Given the description of an element on the screen output the (x, y) to click on. 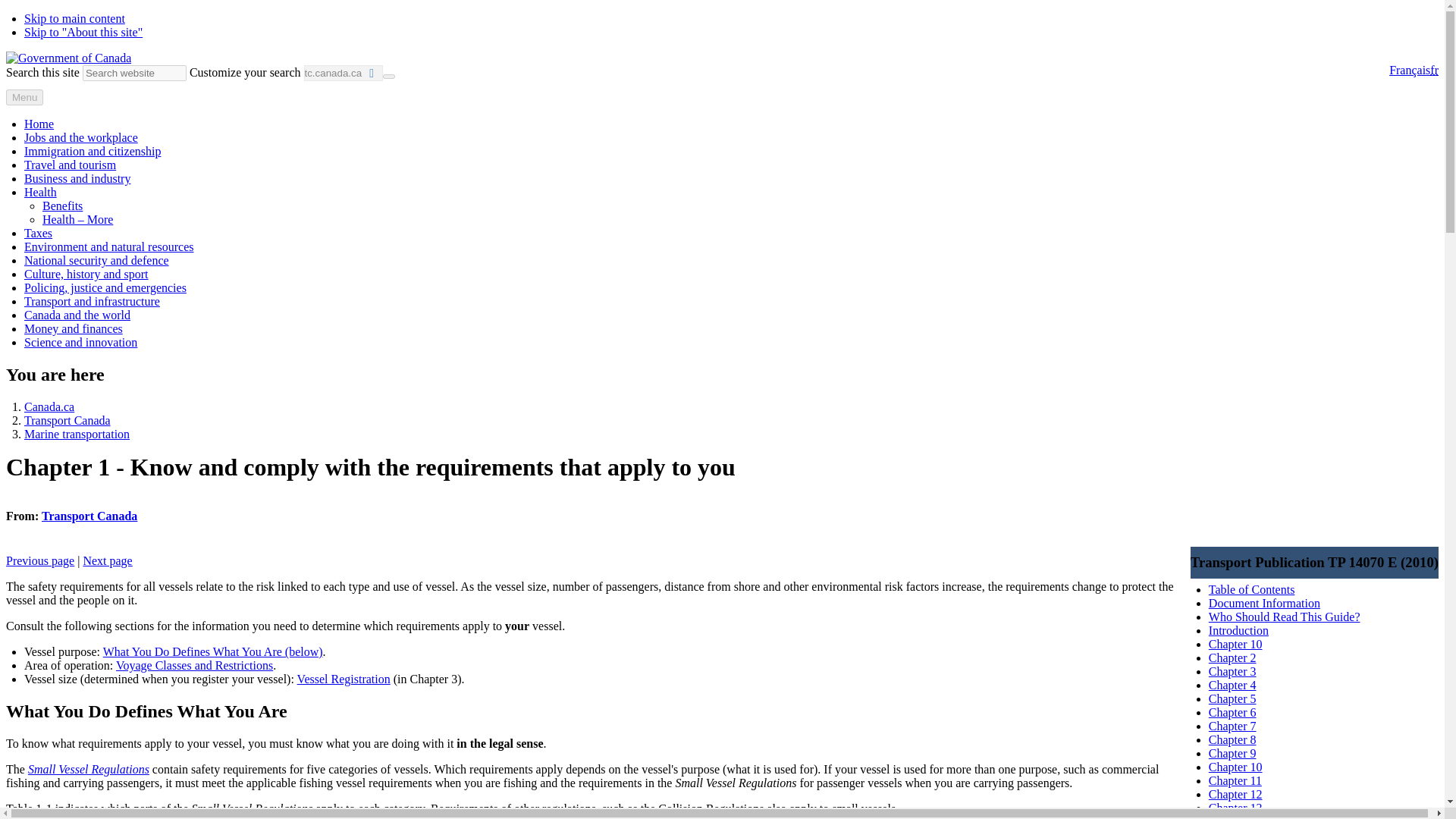
Benefits (62, 205)
Chapter 4 (1232, 684)
Canada.ca (49, 406)
Chapter 3 (1232, 671)
National security and defence (96, 259)
Environment and natural resources (108, 246)
Introduction (1238, 630)
Chapter 11 - Know where you are (1235, 780)
Search (388, 76)
Transport Canada (67, 420)
